Given the description of an element on the screen output the (x, y) to click on. 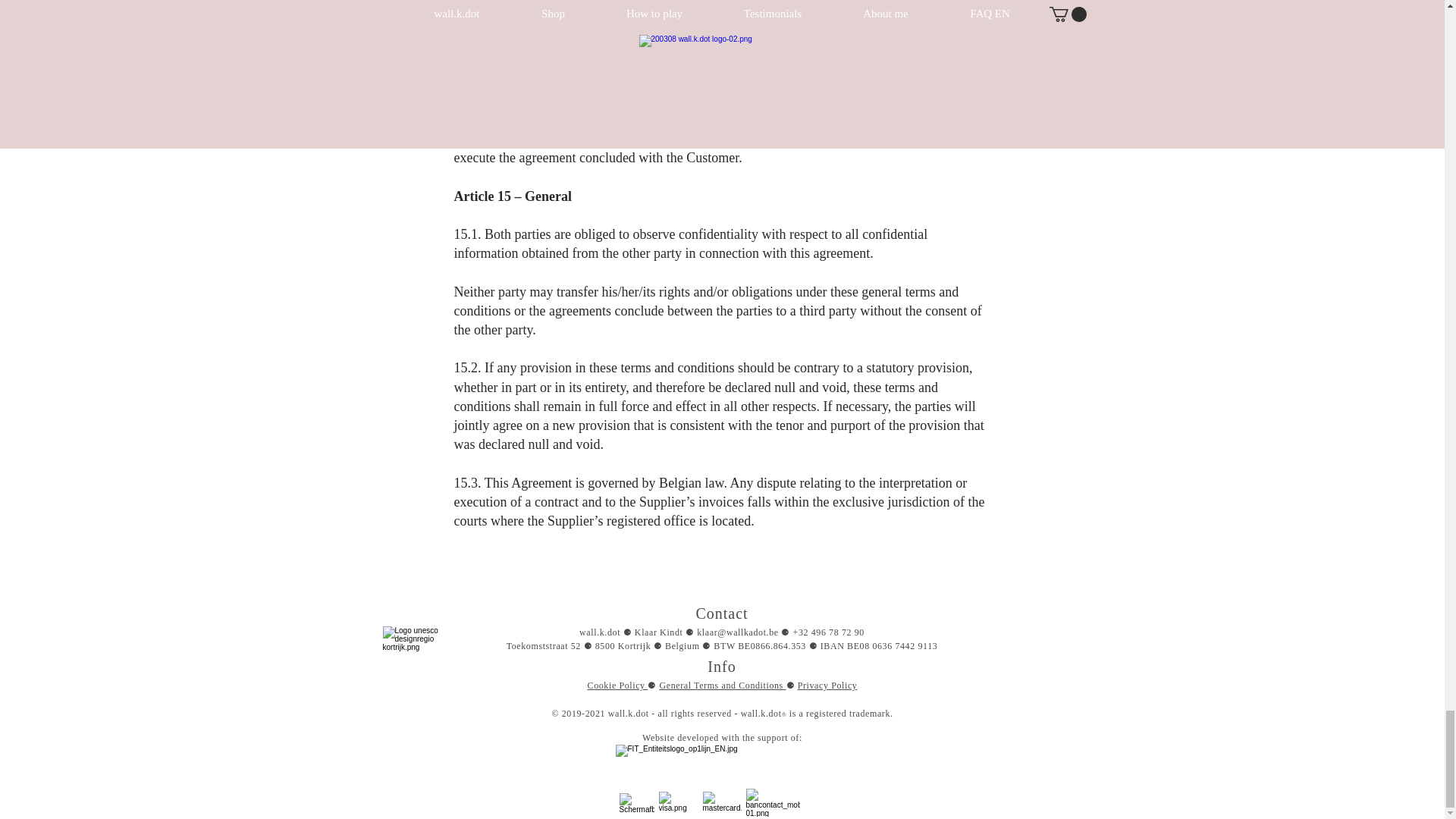
General Terms and Conditions (722, 685)
Cookie Policy (617, 685)
Privacy Policy (827, 685)
Contact (721, 613)
